Given the description of an element on the screen output the (x, y) to click on. 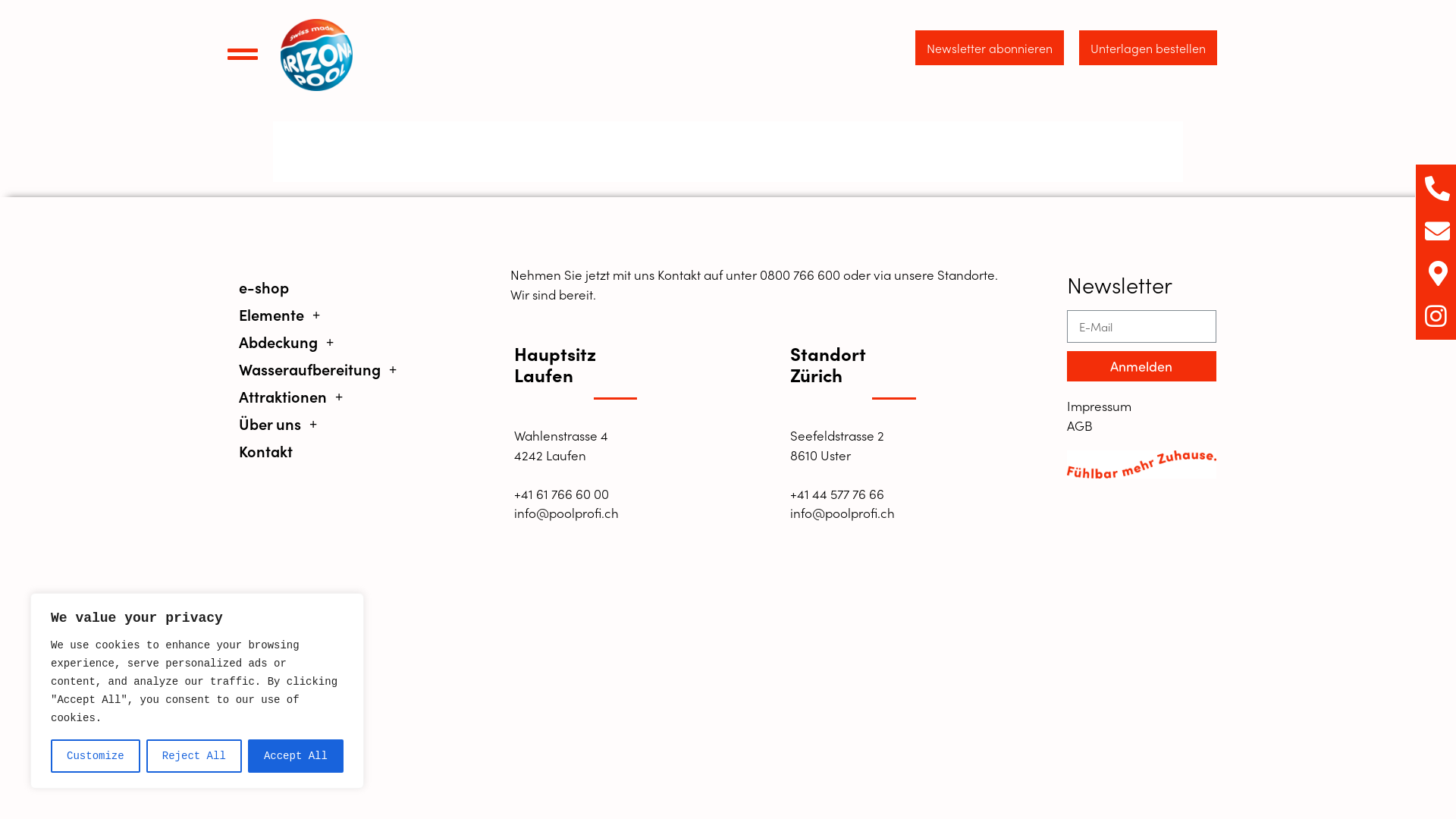
Kontakt Element type: text (321, 450)
Unterlagen bestellen Element type: text (1148, 47)
Elemente Element type: text (321, 313)
Anmelden Element type: text (1141, 366)
Customize Element type: text (95, 755)
e-shop Element type: text (321, 286)
Attraktionen Element type: text (321, 395)
Impressum Element type: text (1141, 406)
AGB Element type: text (1141, 425)
Hauptsitz
Laufen Element type: text (555, 362)
Newsletter abonnieren Element type: text (989, 47)
Wasseraufbereitung Element type: text (321, 368)
Accept All Element type: text (295, 755)
Reject All Element type: text (193, 755)
Abdeckung Element type: text (321, 340)
